Given the description of an element on the screen output the (x, y) to click on. 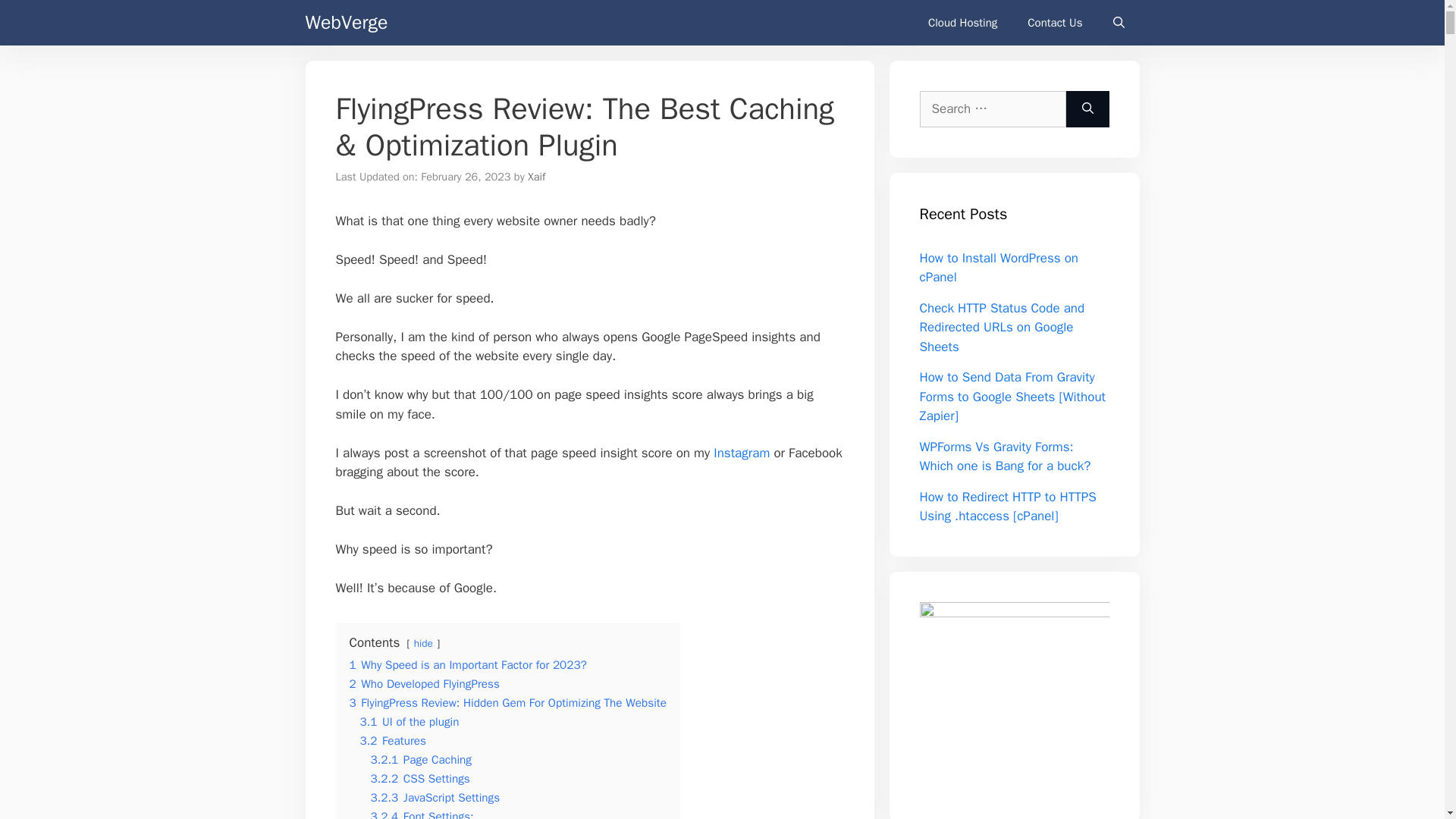
3 FlyingPress Review: Hidden Gem For Optimizing The Website (507, 702)
1 Why Speed is an Important Factor for 2023? (467, 664)
3.2.1 Page Caching (419, 759)
3.1 UI of the plugin (408, 721)
3.2.4 Font Settings: (421, 814)
View all posts by Xaif (535, 176)
Cloud Hosting (961, 22)
3.2.3 JavaScript Settings (434, 797)
3.2 Features (392, 740)
hide (422, 643)
